Given the description of an element on the screen output the (x, y) to click on. 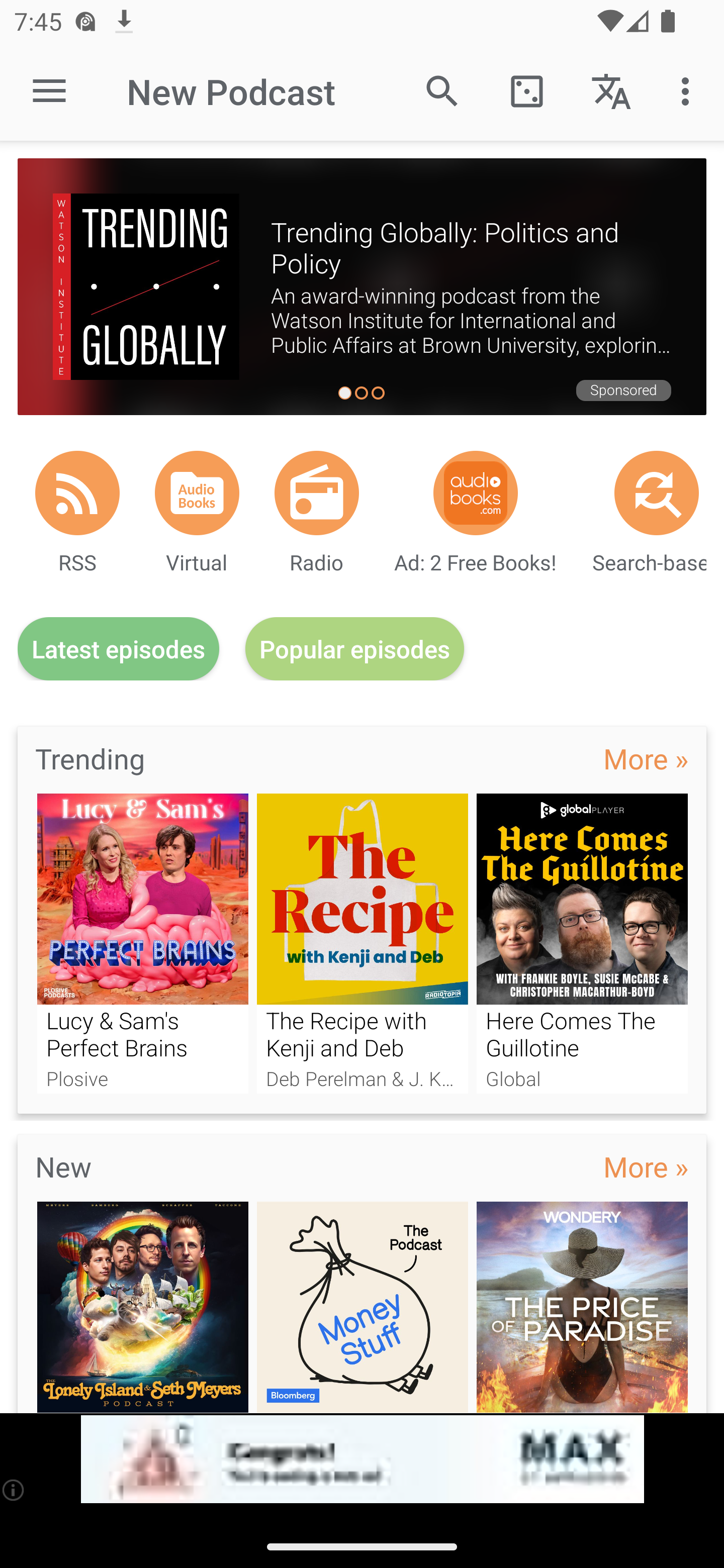
Open navigation sidebar (49, 91)
Search (442, 90)
Random pick (526, 90)
Podcast languages (611, 90)
More options (688, 90)
RSS (77, 492)
Virtual (196, 492)
Radio (316, 492)
Search-based (656, 492)
Latest episodes (118, 648)
Popular episodes (354, 648)
More » (645, 757)
Lucy & Sam's Perfect Brains Plosive (142, 942)
Here Comes The Guillotine Global (581, 942)
More » (645, 1166)
The Lonely Island and Seth Meyers Podcast (142, 1306)
Money Stuff: The Podcast (362, 1306)
The Price of Paradise (581, 1306)
app-monetization (362, 1459)
(i) (14, 1489)
